Given the description of an element on the screen output the (x, y) to click on. 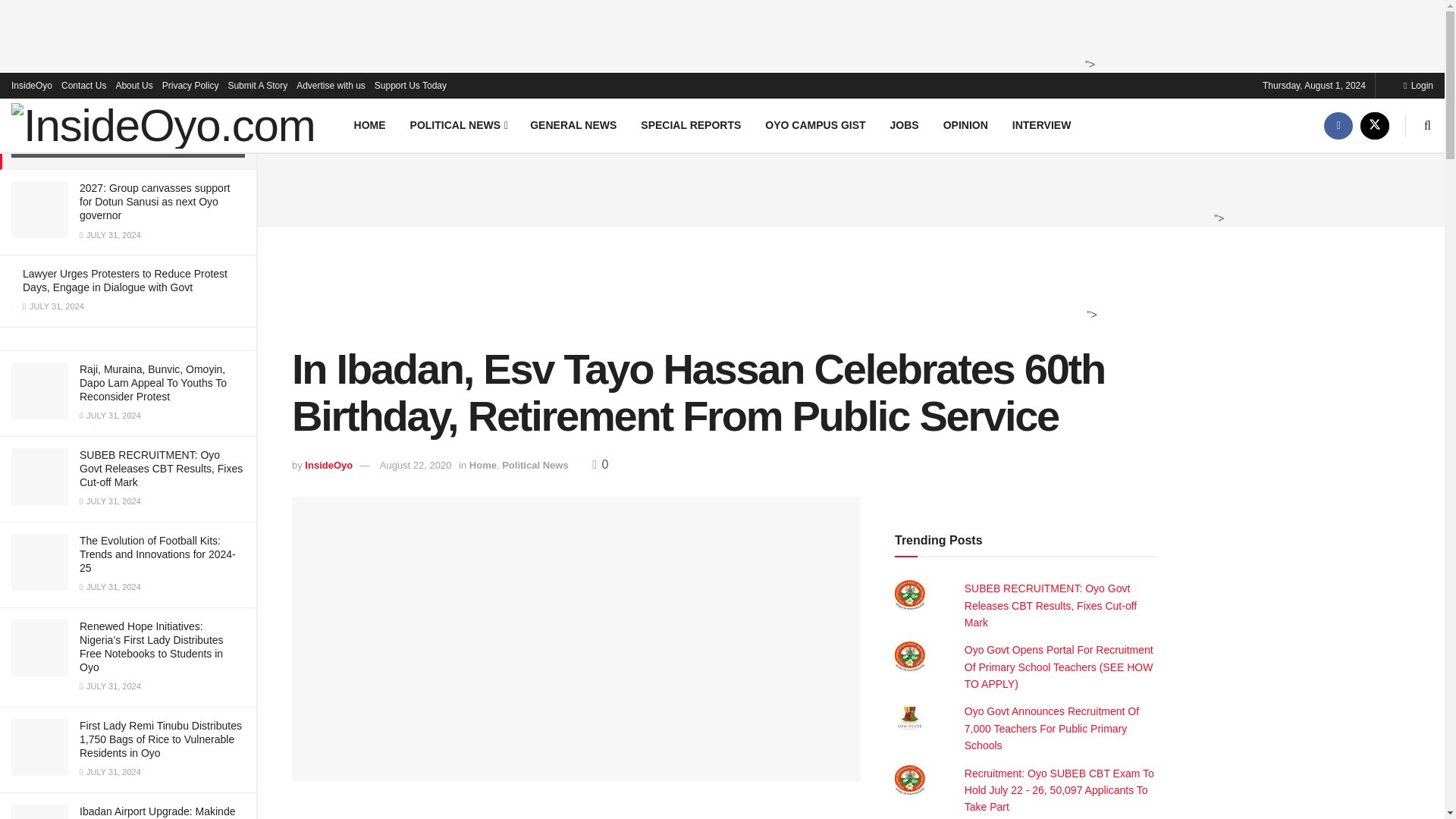
Filter (227, 13)
Privacy Policy (190, 85)
Submit A Story (256, 85)
Support Us Today (410, 85)
POLITICAL NEWS (457, 125)
HOME (369, 125)
Contact Us (83, 85)
